Given the description of an element on the screen output the (x, y) to click on. 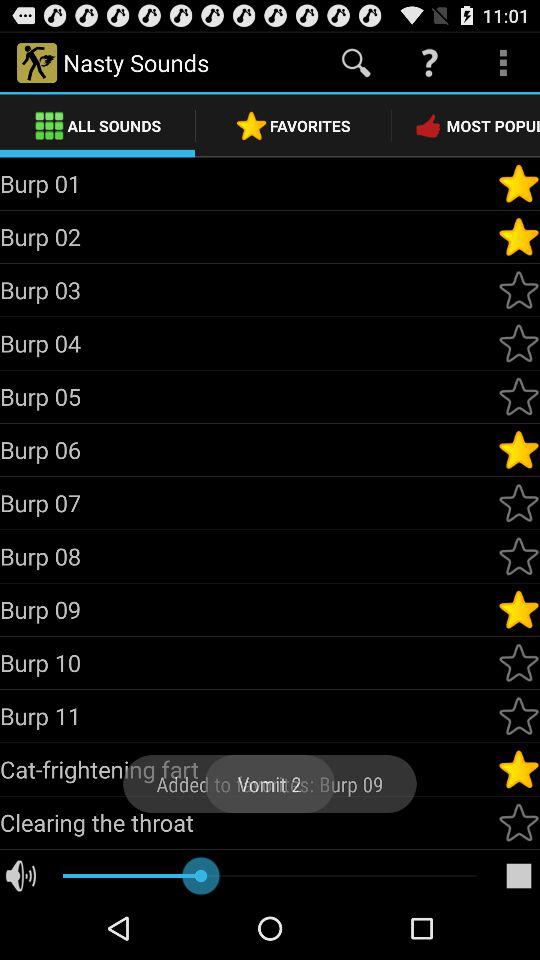
select burp 11 (519, 716)
